Given the description of an element on the screen output the (x, y) to click on. 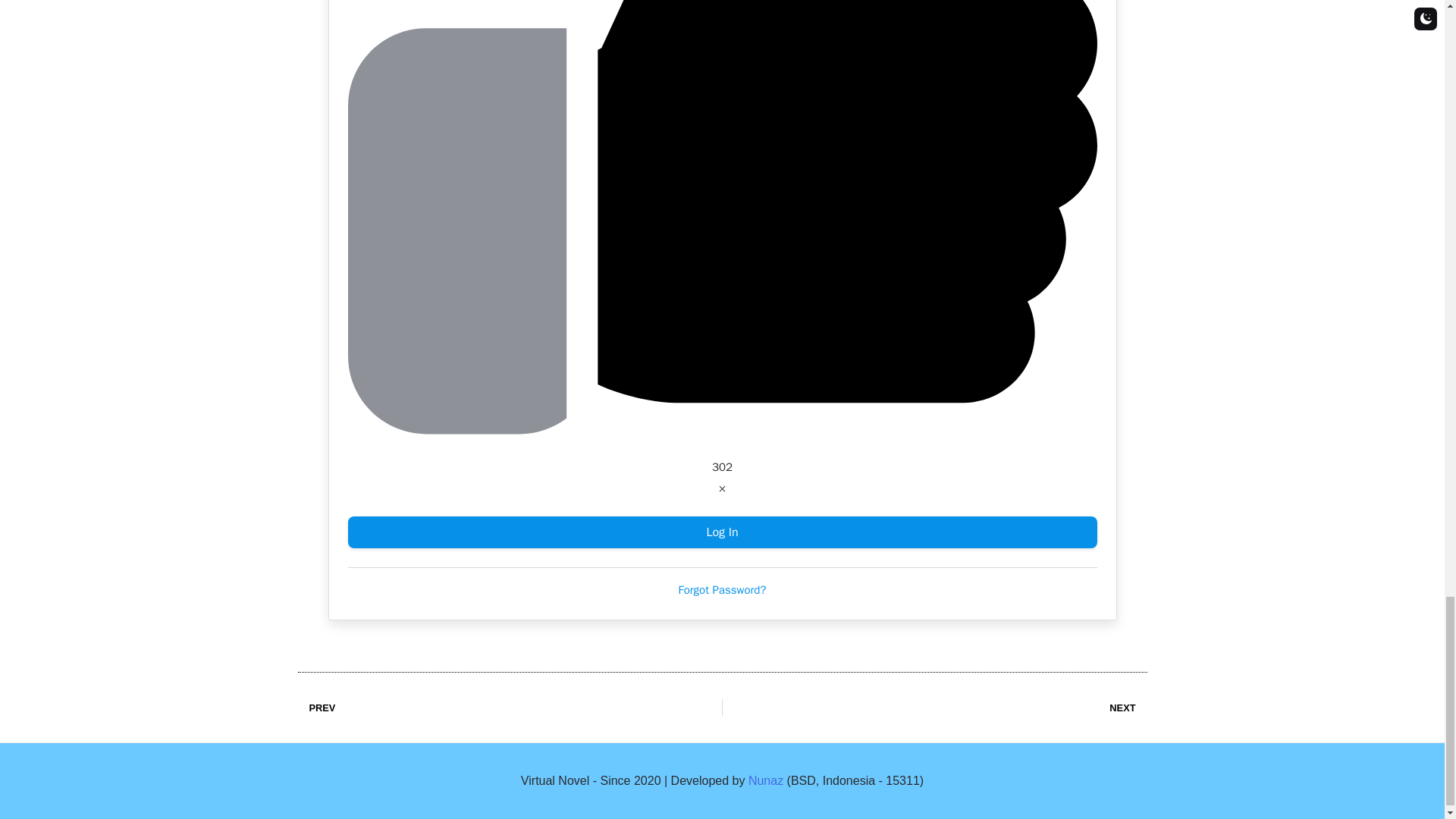
Forgot Password? (722, 590)
Nunaz (934, 708)
Log In (765, 780)
Log In (721, 531)
